Given the description of an element on the screen output the (x, y) to click on. 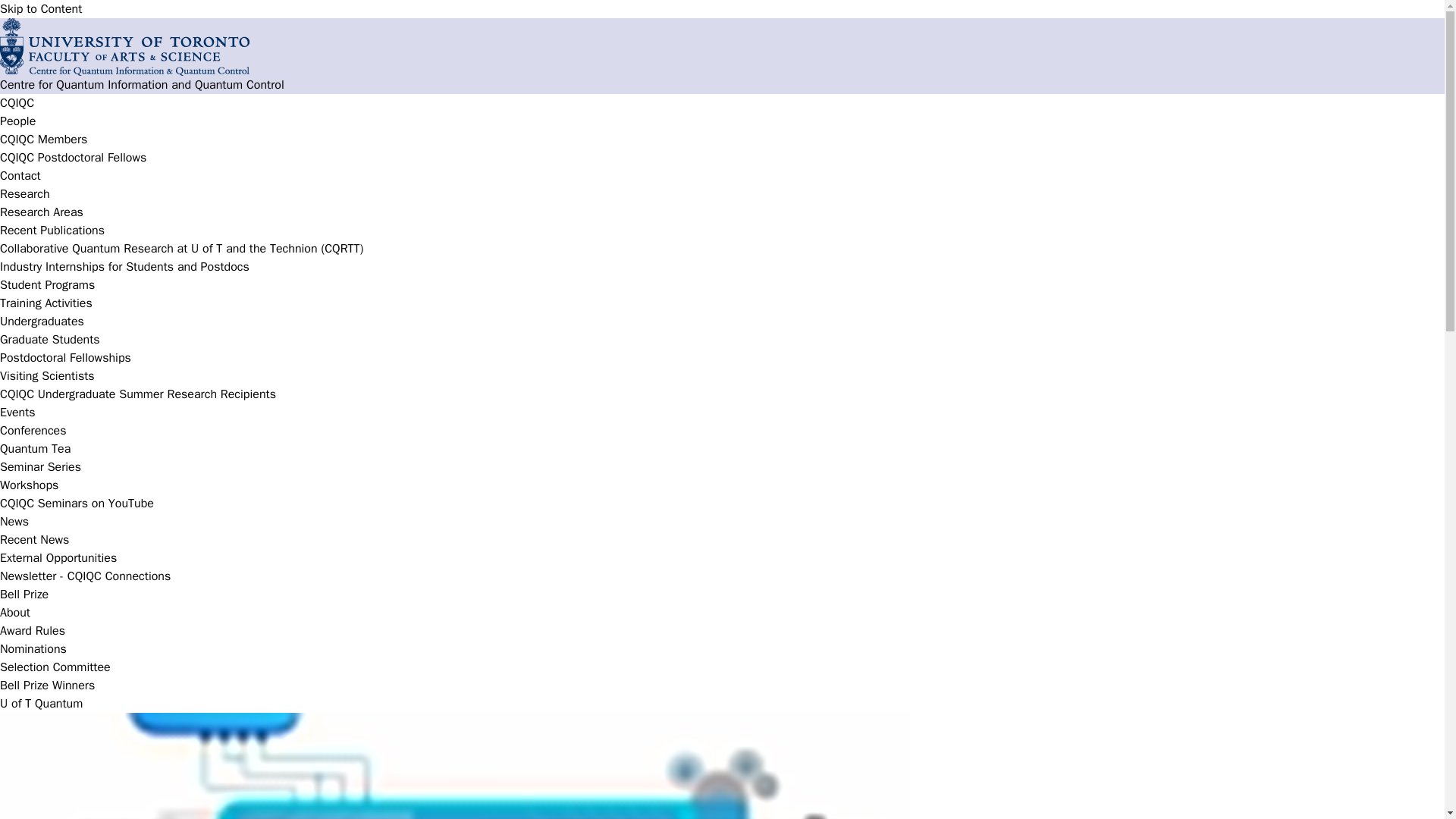
Student Programs (47, 284)
Research Areas (41, 212)
Recent Publications (52, 230)
Graduate Students (50, 339)
CQIQC Postdoctoral Fellows (73, 157)
CQIQC (16, 102)
Research (24, 193)
Newsletter - CQIQC Connections (85, 575)
Postdoctoral Fellowships (65, 357)
Conferences (33, 430)
Skip to Content (40, 8)
CQIQC Undergraduate Summer Research Recipients (138, 394)
U of T Quantum (41, 703)
Selection Committee (55, 667)
Seminar Series (40, 467)
